Given the description of an element on the screen output the (x, y) to click on. 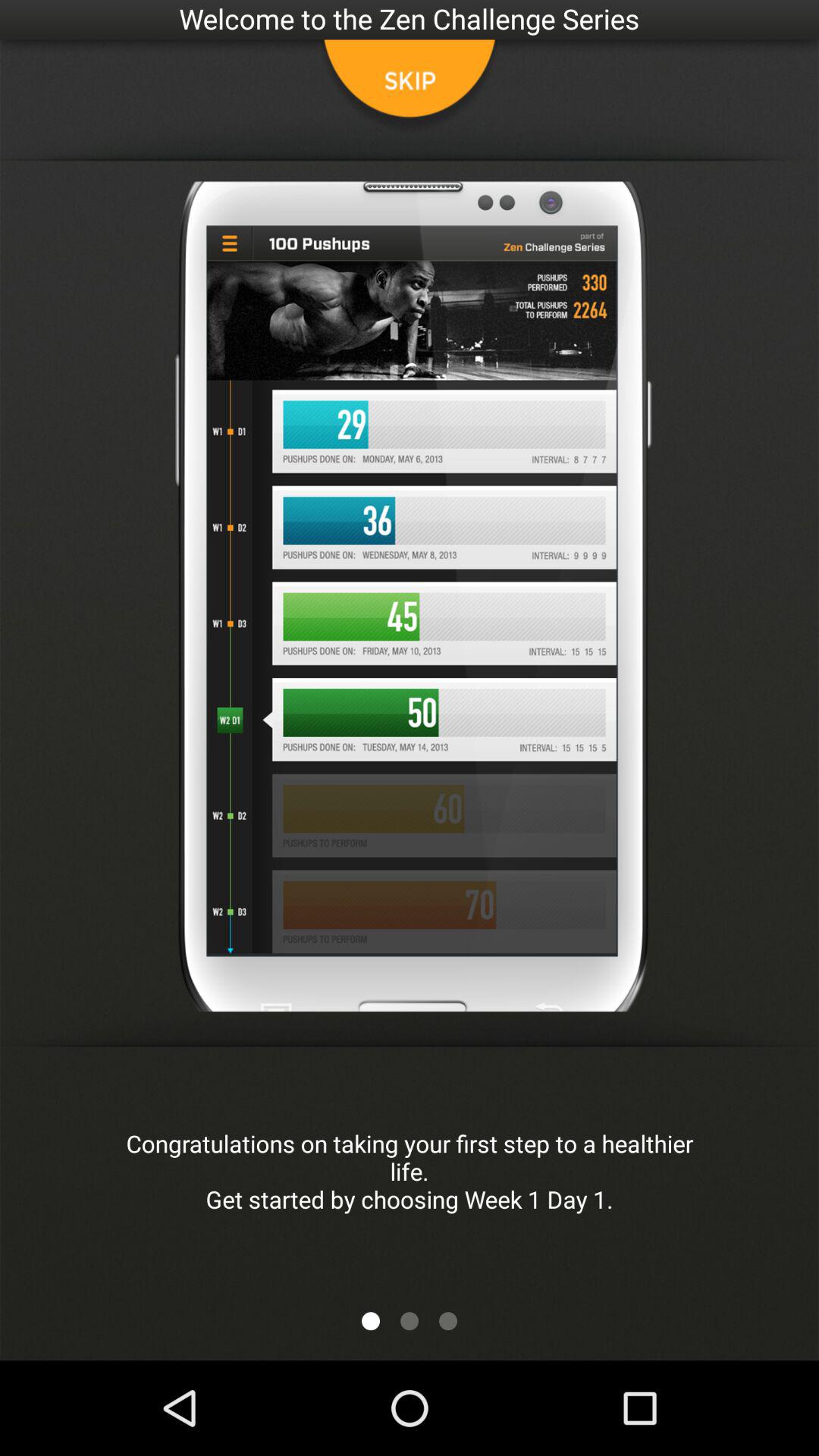
select the app below the congratulations on taking (448, 1321)
